Given the description of an element on the screen output the (x, y) to click on. 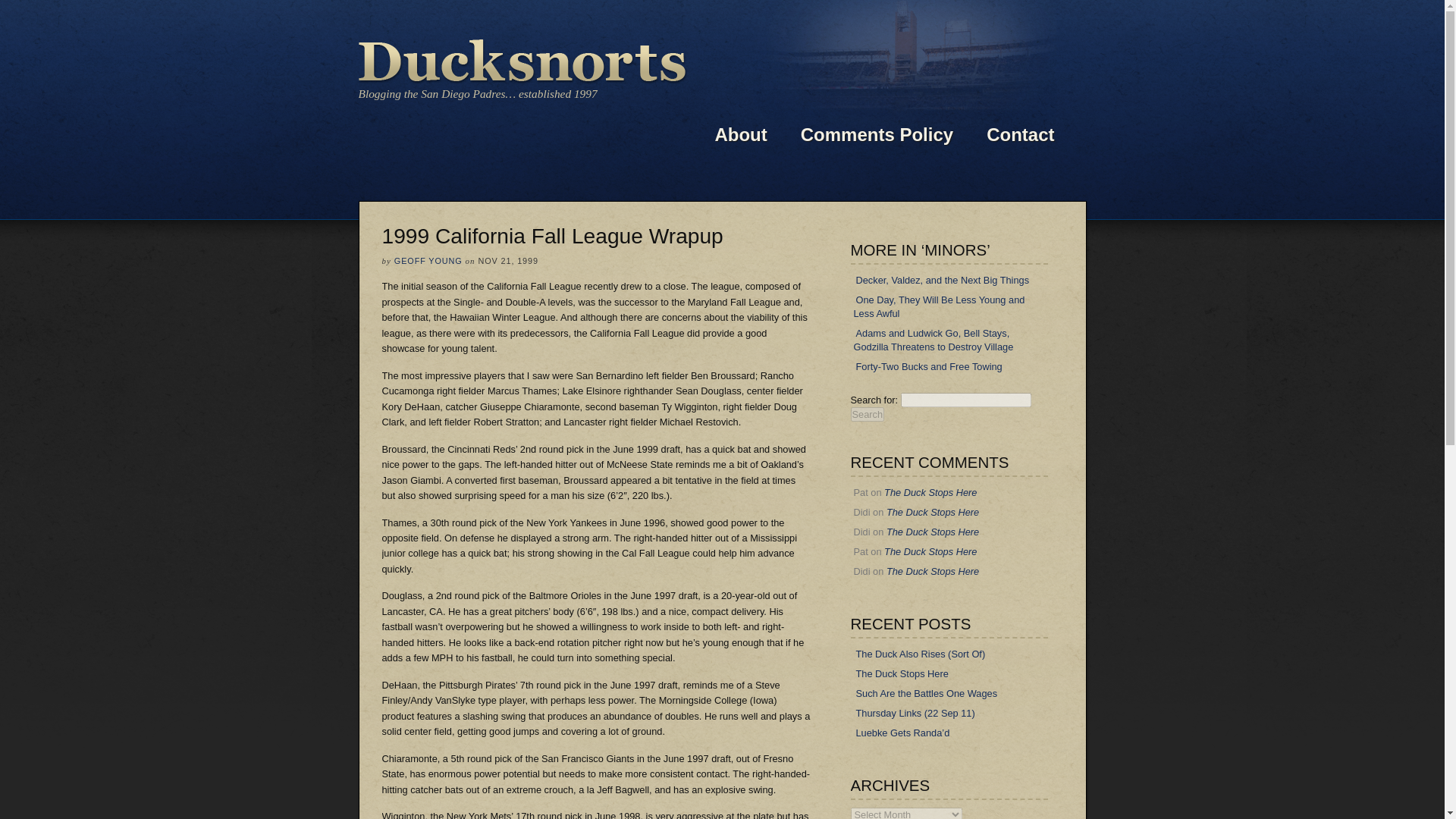
The Duck Stops Here (932, 571)
Such Are the Battles One Wages (926, 693)
Contact (1019, 135)
Search (867, 414)
Search (867, 414)
Such Are the Battles One Wages (926, 693)
The Duck Stops Here (932, 531)
The Duck Stops Here (901, 673)
About Ducksnorts (740, 135)
Decker, Valdez, and the Next Big Things (942, 279)
The Duck Stops Here (929, 551)
GEOFF YOUNG (428, 260)
The Duck Stops Here (932, 511)
Ducksnorts Comments Policy (876, 135)
Comments Policy (876, 135)
